Given the description of an element on the screen output the (x, y) to click on. 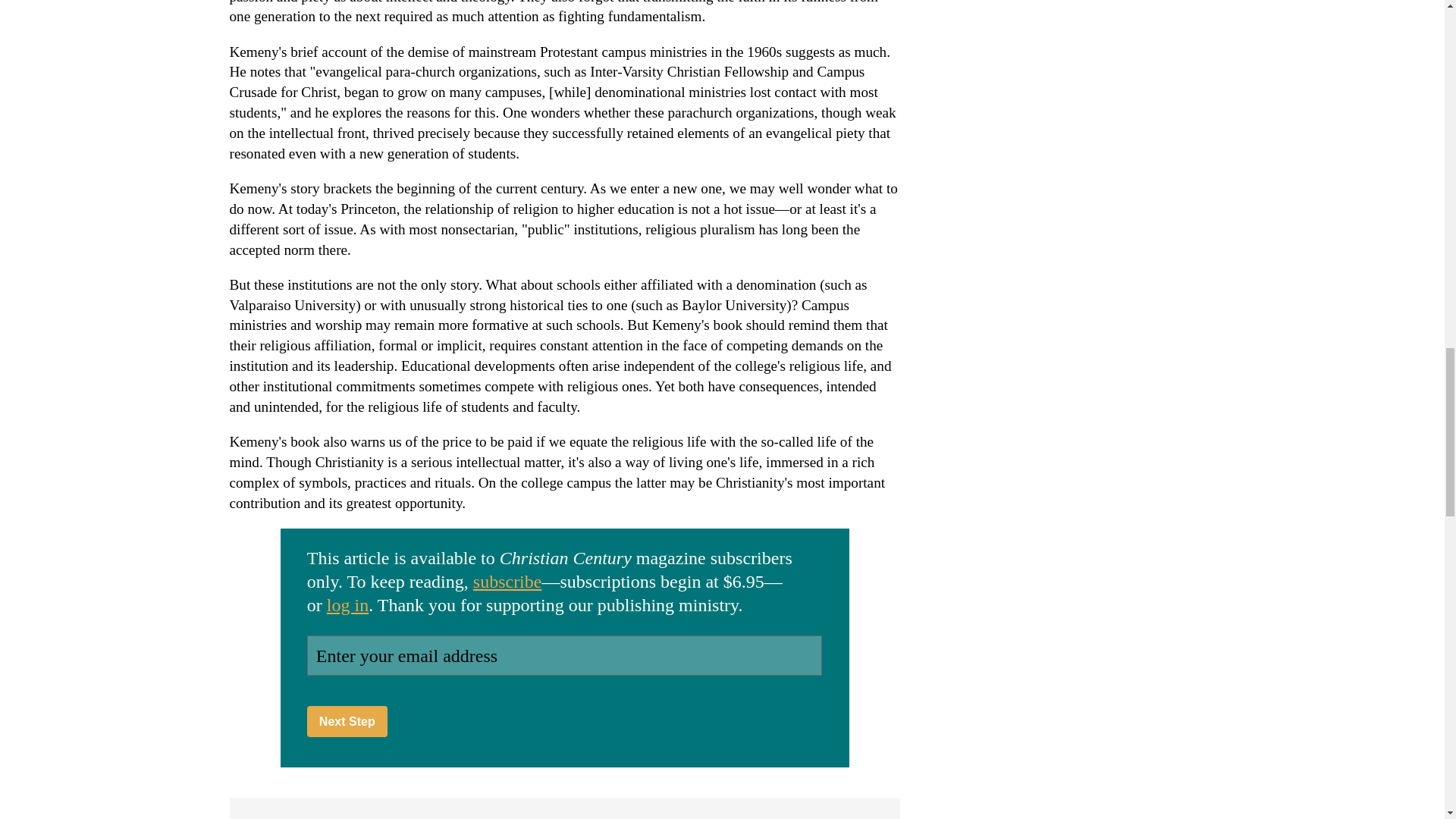
Next Step (347, 720)
